Given the description of an element on the screen output the (x, y) to click on. 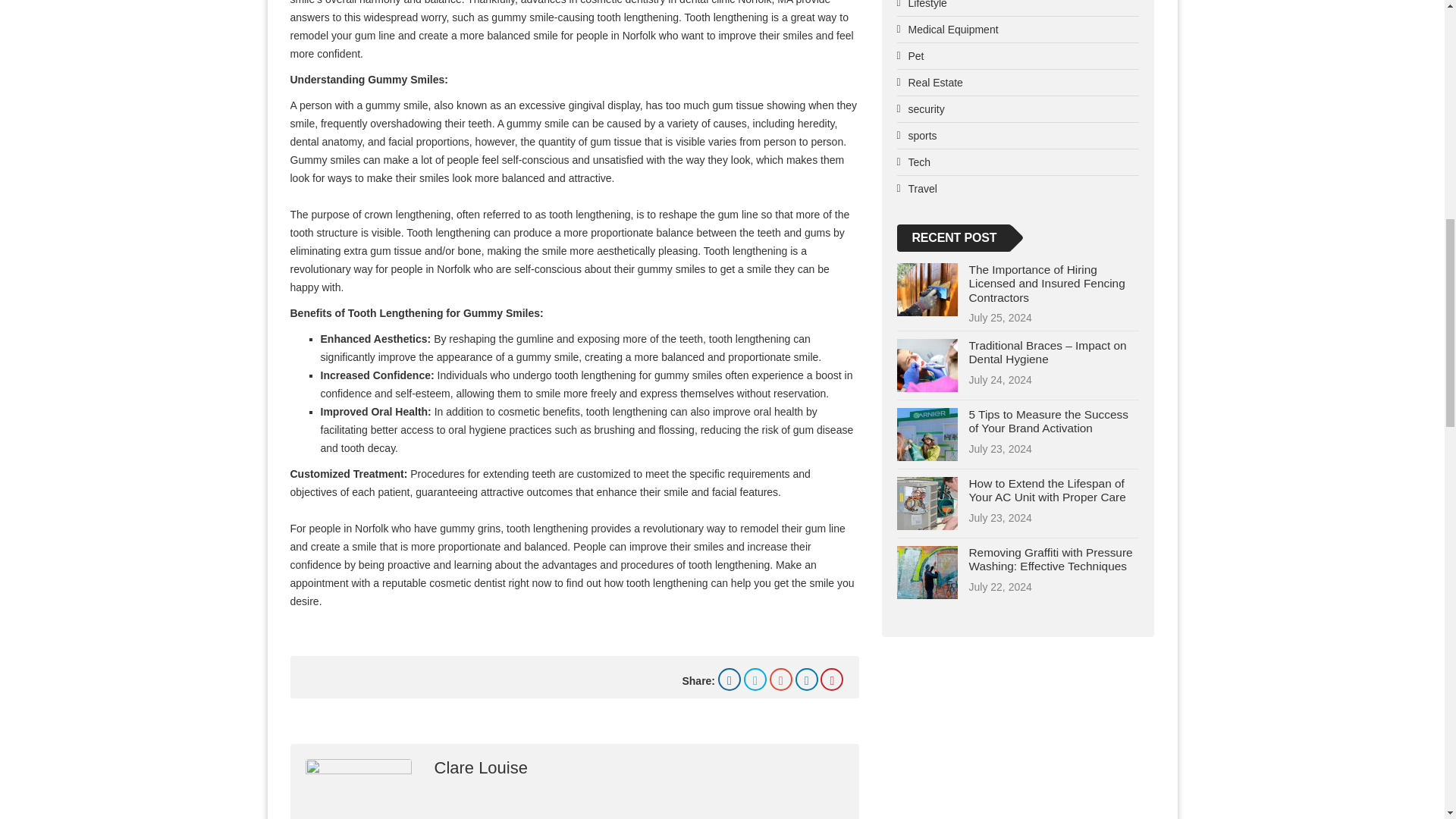
Clare Louise (480, 767)
Pinterest (832, 679)
dental clinic Norfolk, MA (735, 2)
Twitter (755, 679)
Google Plus (781, 679)
Linkedin (806, 679)
Facebook (729, 679)
